Given the description of an element on the screen output the (x, y) to click on. 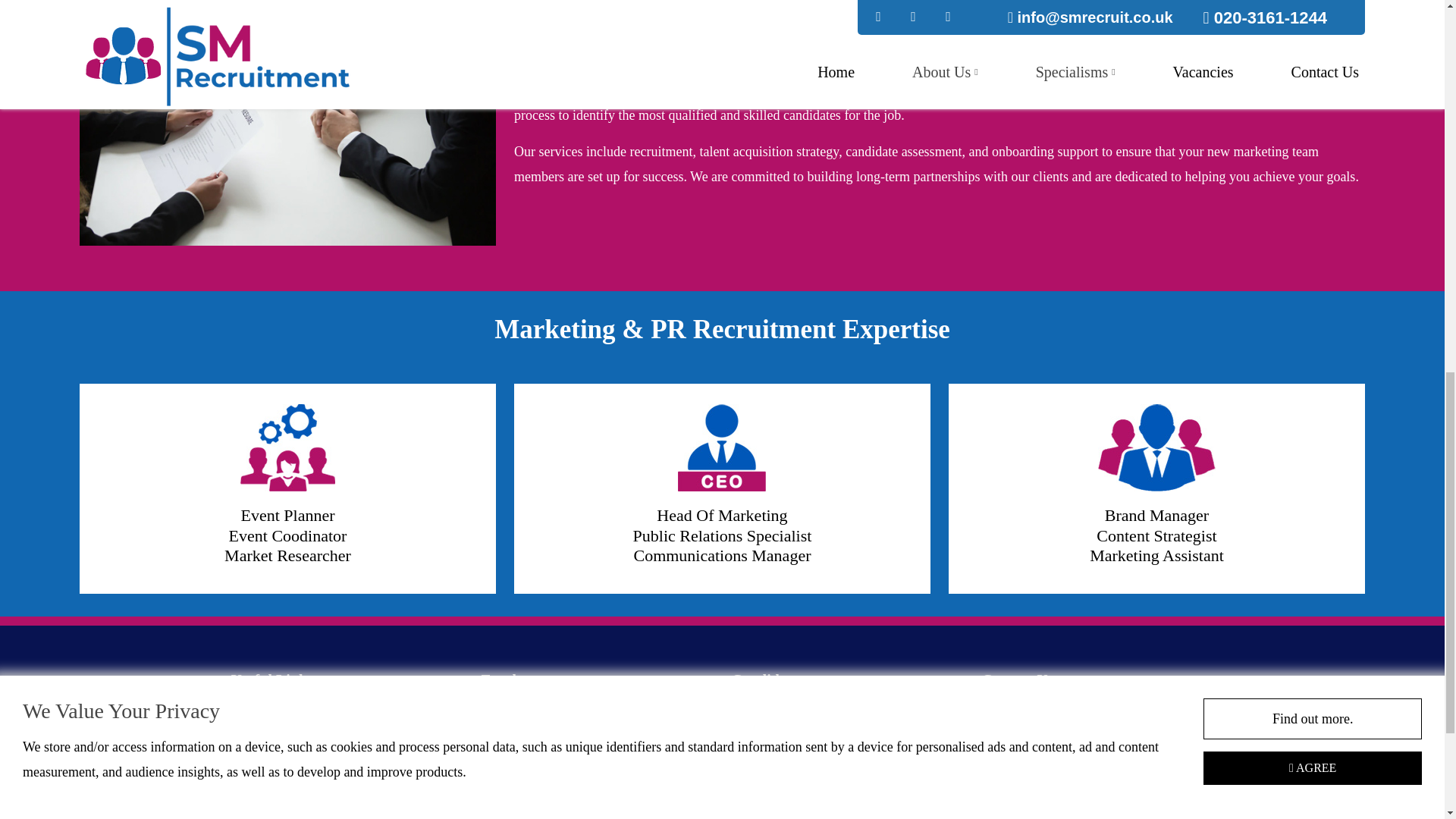
About us (257, 740)
Jobs (745, 711)
020-3161-1244 (1063, 792)
Digital Marketing (531, 799)
Your Search Partner (536, 711)
Privacy Policy (272, 799)
Executive Recruiting (539, 740)
Business Development (544, 770)
Contact us (761, 770)
Home (250, 711)
Submit your CV (777, 740)
